Given the description of an element on the screen output the (x, y) to click on. 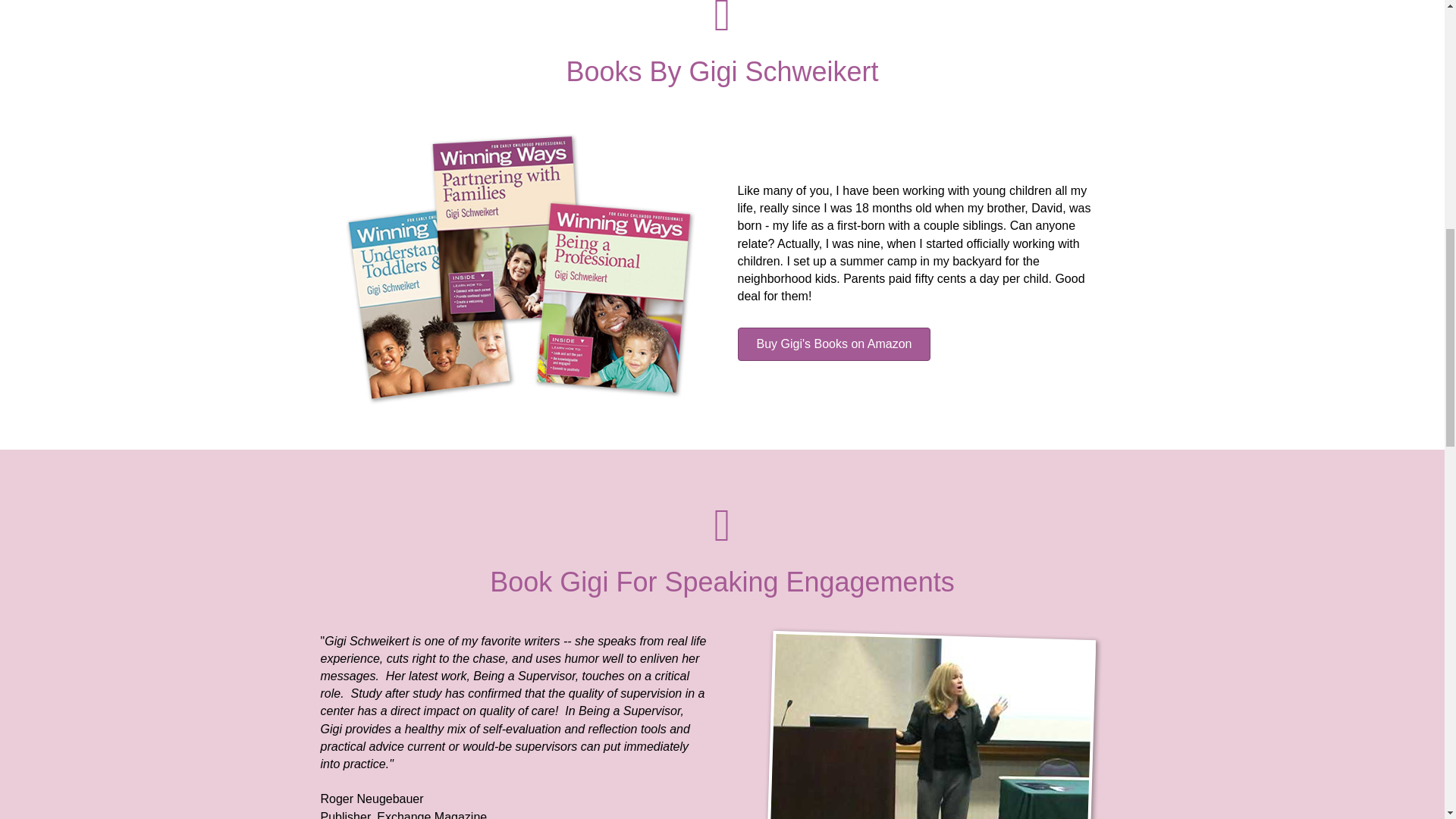
BookdByGigiSchweikert (520, 270)
GigiSpeaking2 (931, 718)
Buy Gigi's Books on Amazon (833, 344)
